Given the description of an element on the screen output the (x, y) to click on. 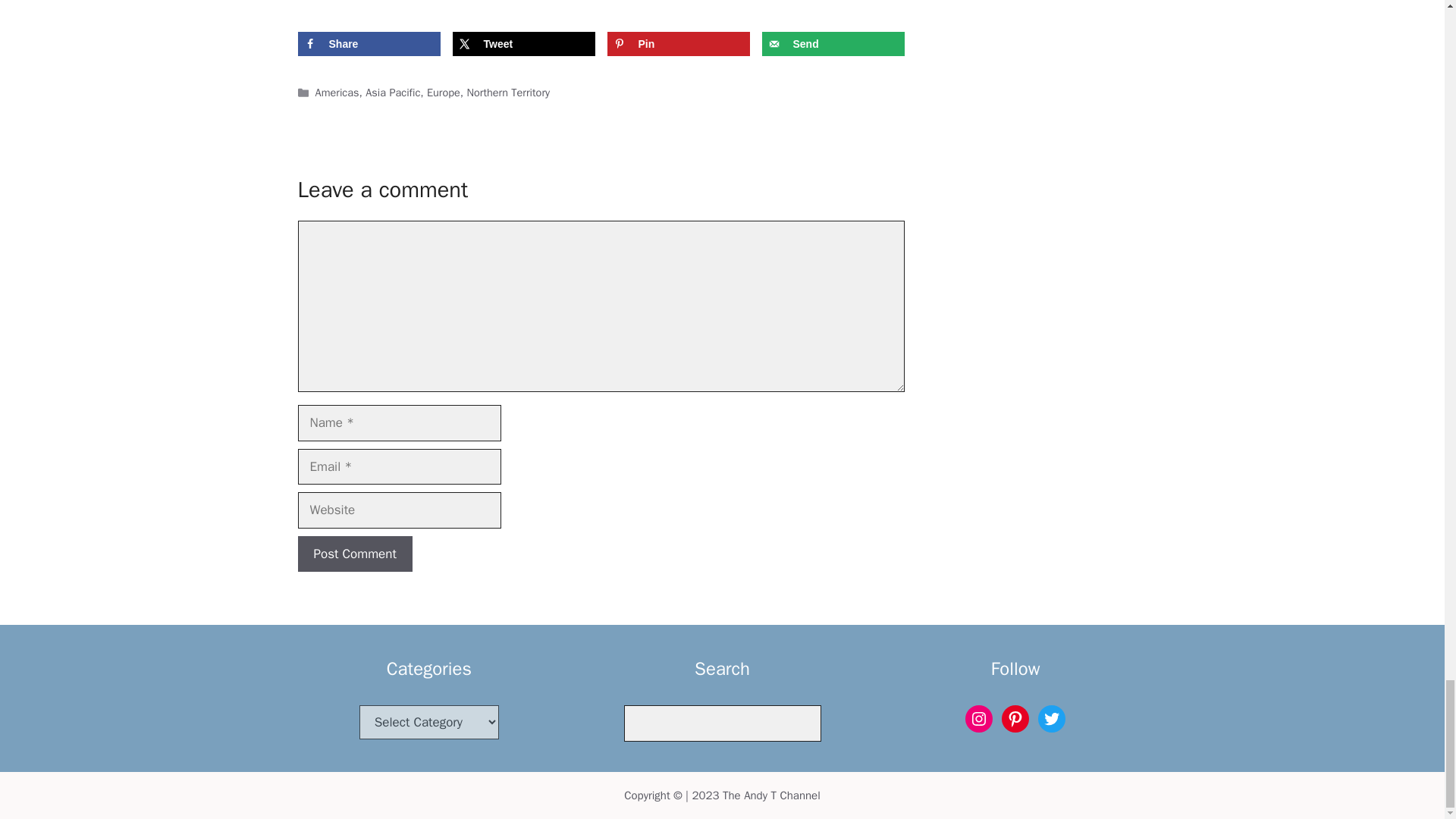
Save to Pinterest (678, 43)
Post Comment (354, 554)
A Stumble Through the Amazon - Madidi National Park (602, 6)
Americas (337, 92)
Top Five Places to Read a Book (358, 6)
Tweet (522, 43)
Five Things I Want to Experience by 2015 (725, 6)
Northern Territory (508, 92)
Send over email (832, 43)
Share (368, 43)
